Given the description of an element on the screen output the (x, y) to click on. 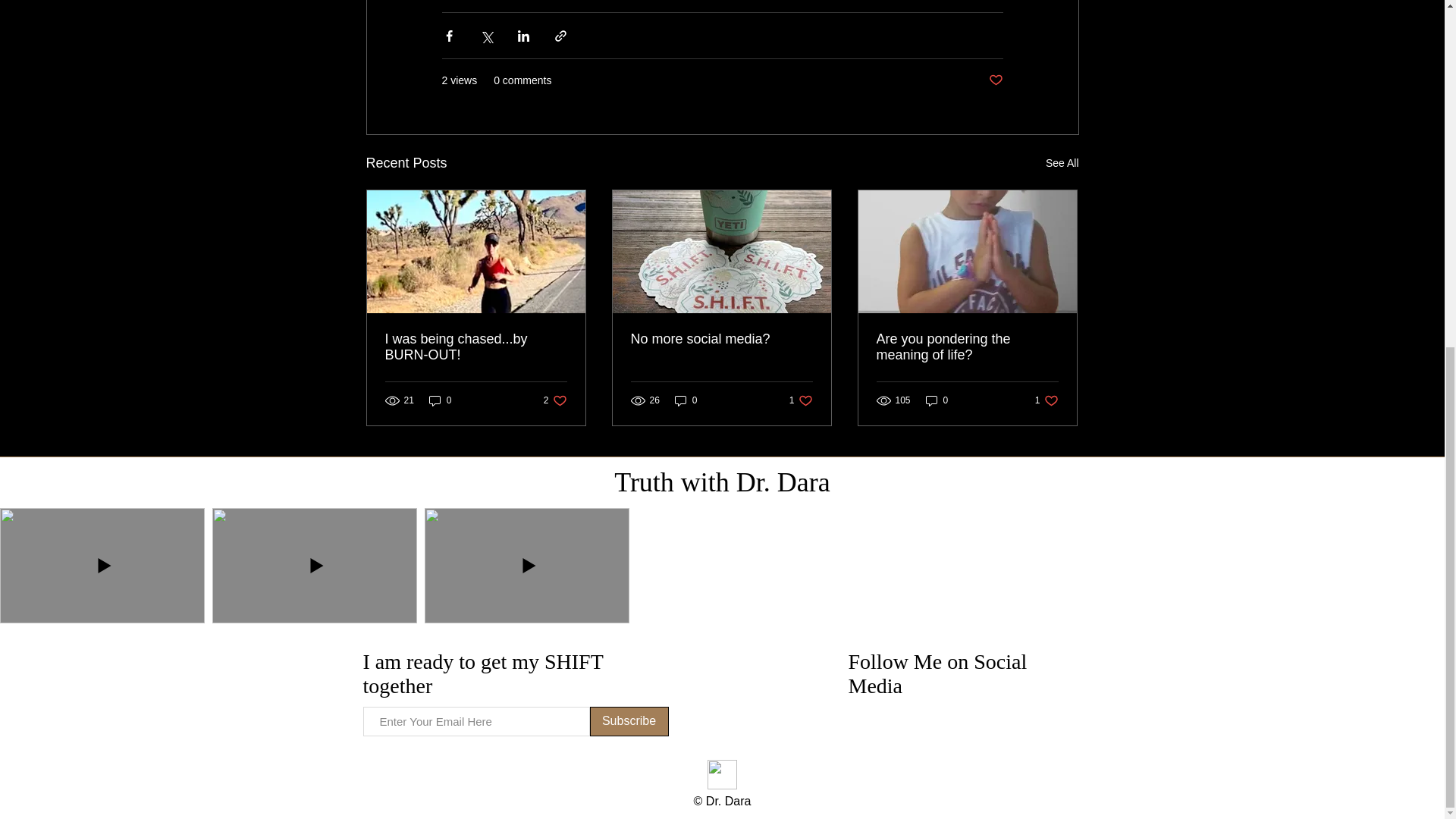
No more social media? (721, 339)
image001.png (721, 774)
See All (1061, 163)
0 (685, 400)
I was being chased...by BURN-OUT! (476, 347)
Post not marked as liked (555, 400)
0 (800, 400)
